Given the description of an element on the screen output the (x, y) to click on. 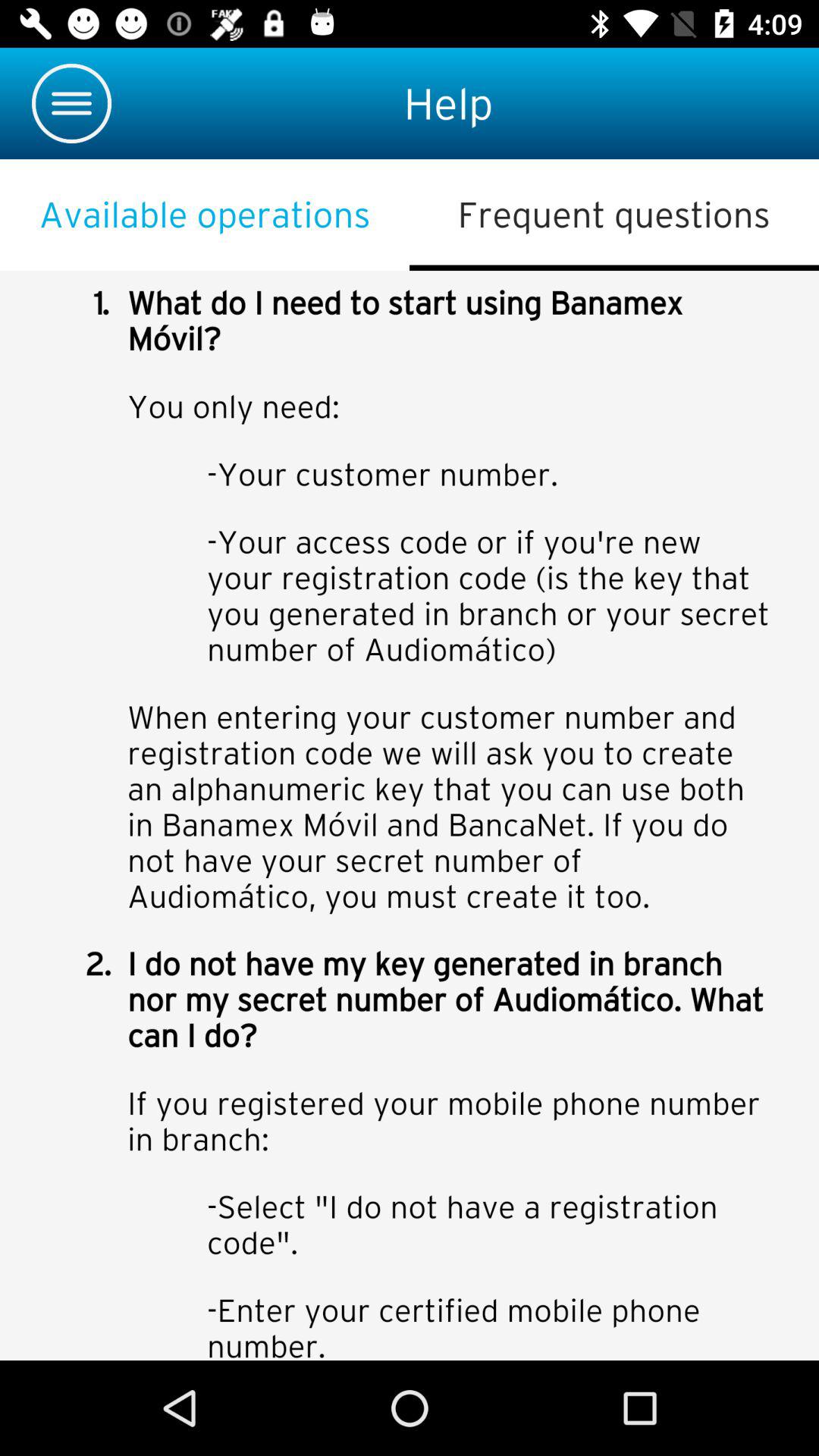
colour pinter (409, 815)
